Given the description of an element on the screen output the (x, y) to click on. 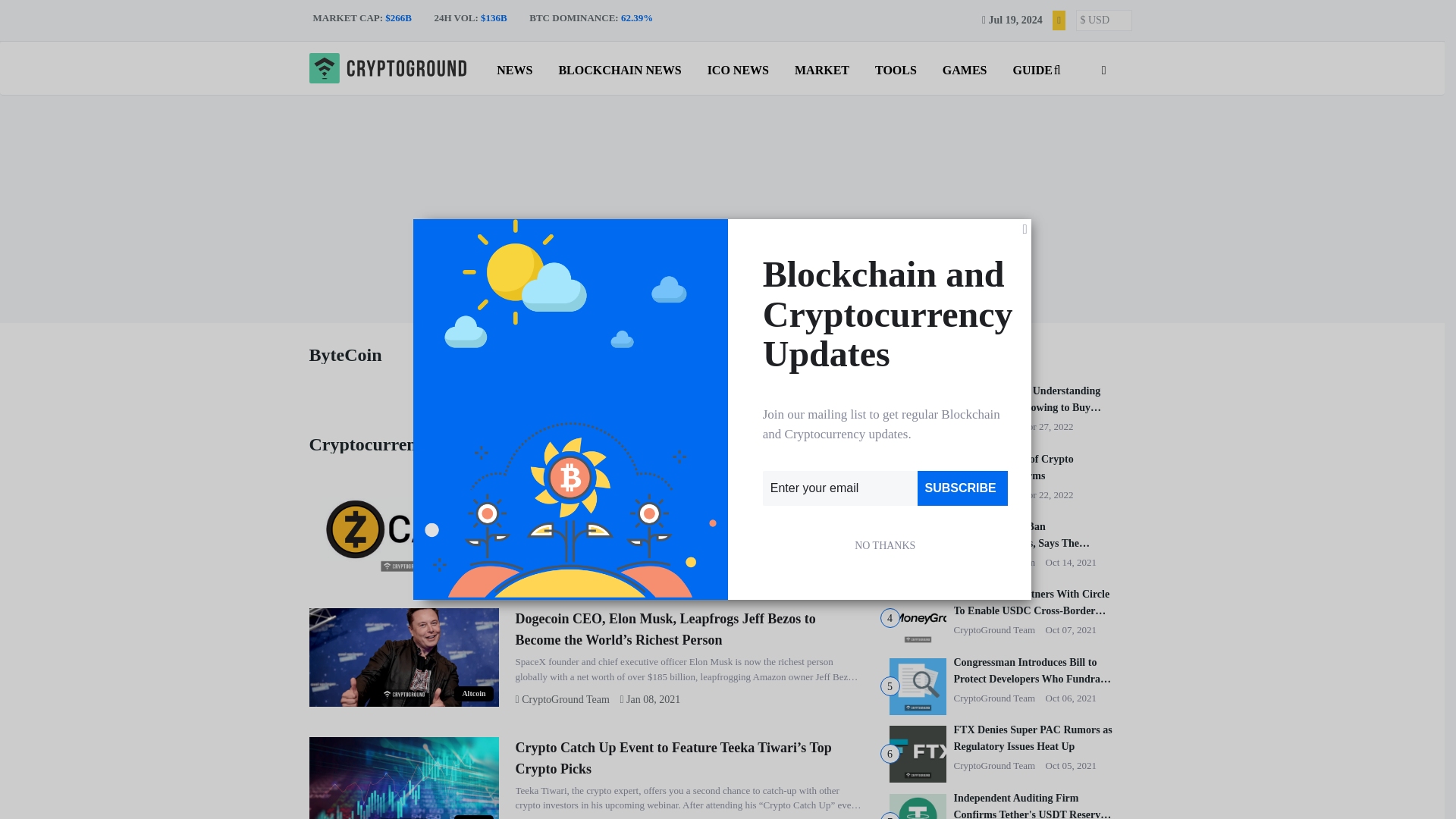
BLOCKCHAIN NEWS (619, 66)
ICO NEWS (737, 66)
MARKET (821, 66)
